Given the description of an element on the screen output the (x, y) to click on. 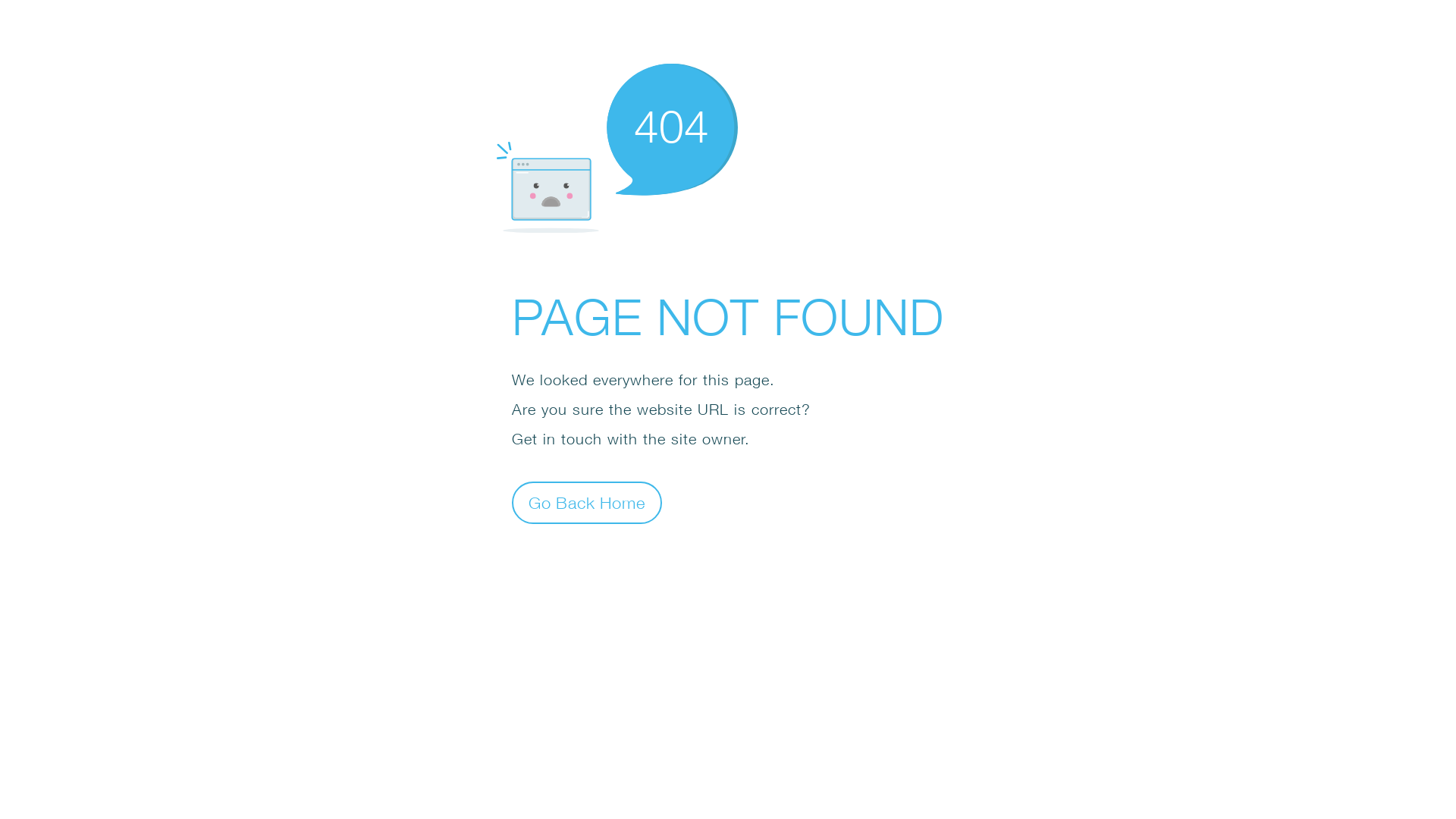
Go Back Home Element type: text (586, 502)
